Given the description of an element on the screen output the (x, y) to click on. 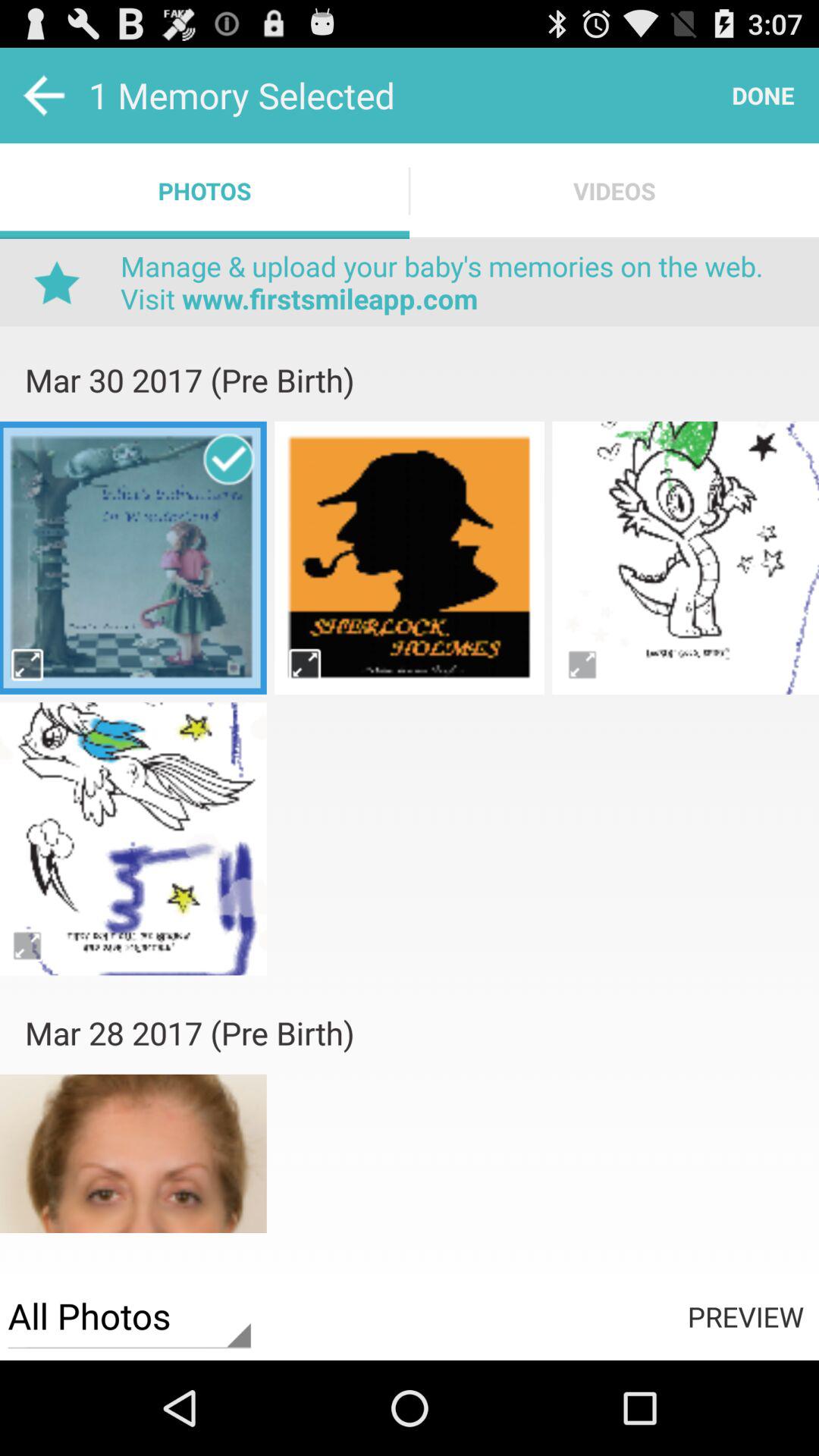
pre-birth memory (409, 557)
